Given the description of an element on the screen output the (x, y) to click on. 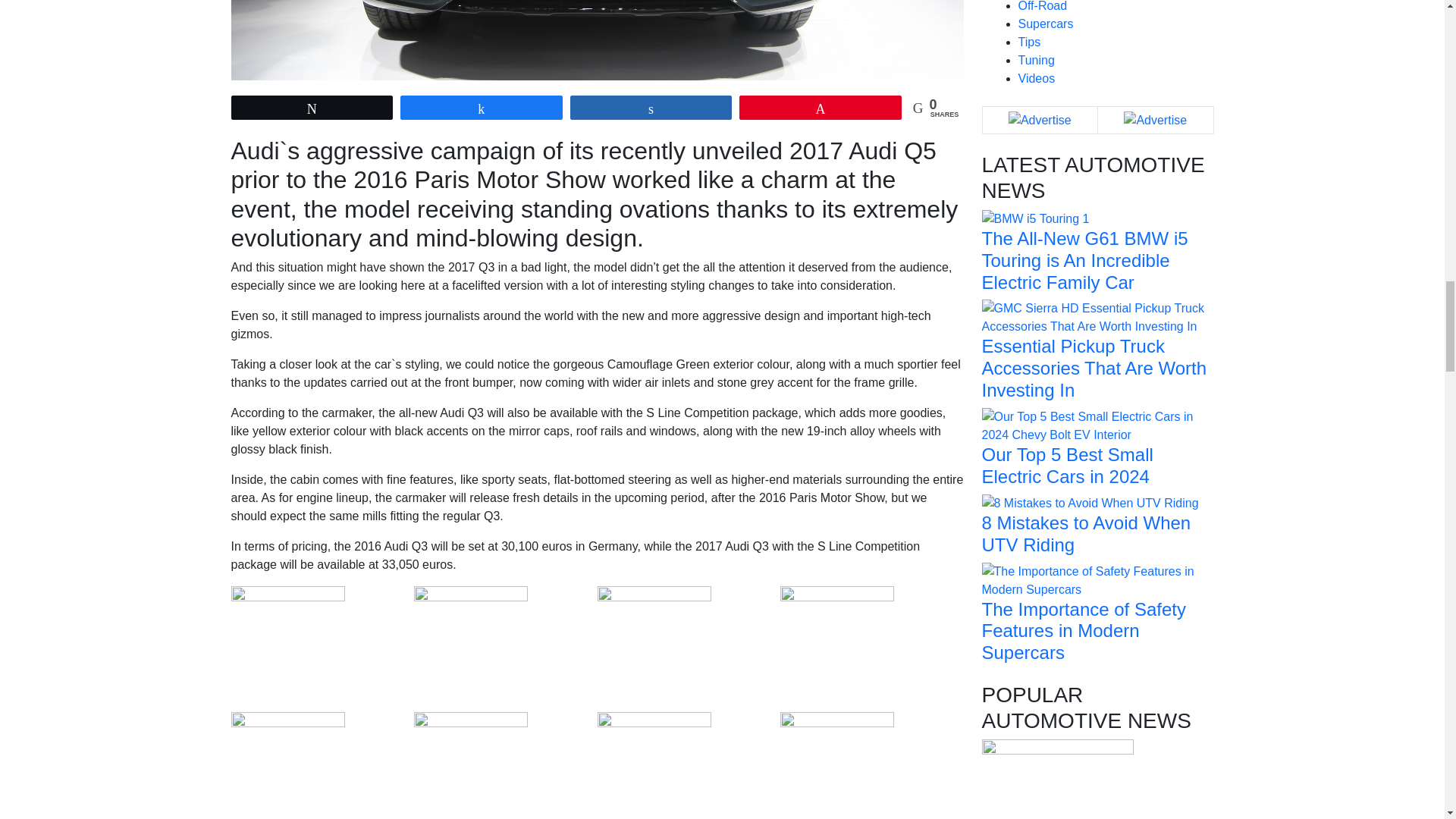
Advertise (1155, 119)
Advertise (1040, 119)
